Given the description of an element on the screen output the (x, y) to click on. 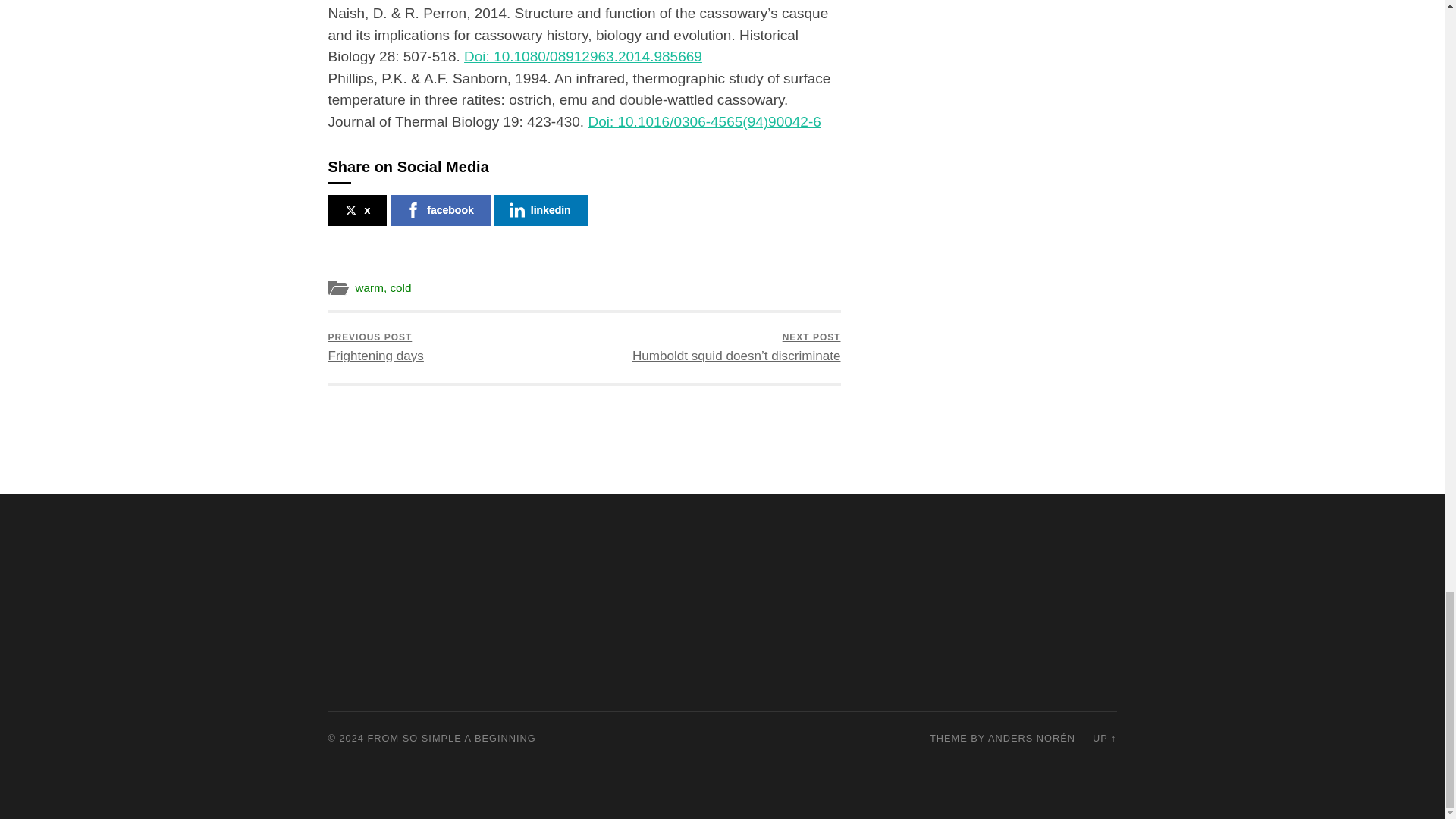
linkedin (375, 347)
To the top (541, 210)
facebook (1104, 737)
warm, cold (439, 210)
x (382, 287)
